Given the description of an element on the screen output the (x, y) to click on. 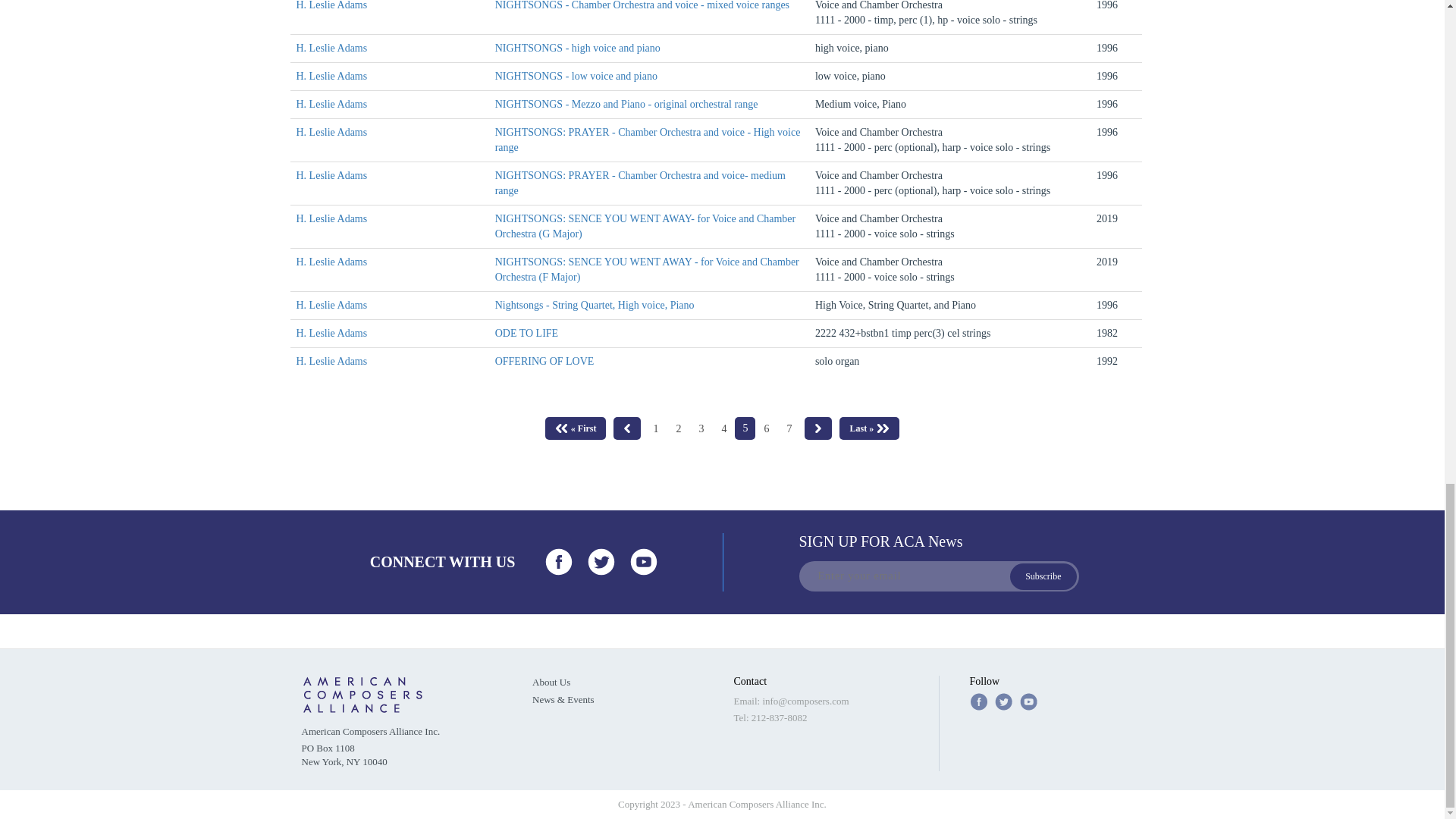
Go to previous page (626, 427)
Go to next page (818, 427)
Go to page 6 (765, 428)
Go to page 3 (700, 428)
Current page (745, 427)
Go to last page (869, 427)
Go to page 1 (654, 428)
Go to page 4 (723, 428)
Go to first page (575, 427)
Go to page 7 (788, 428)
Go to page 2 (678, 428)
